Given the description of an element on the screen output the (x, y) to click on. 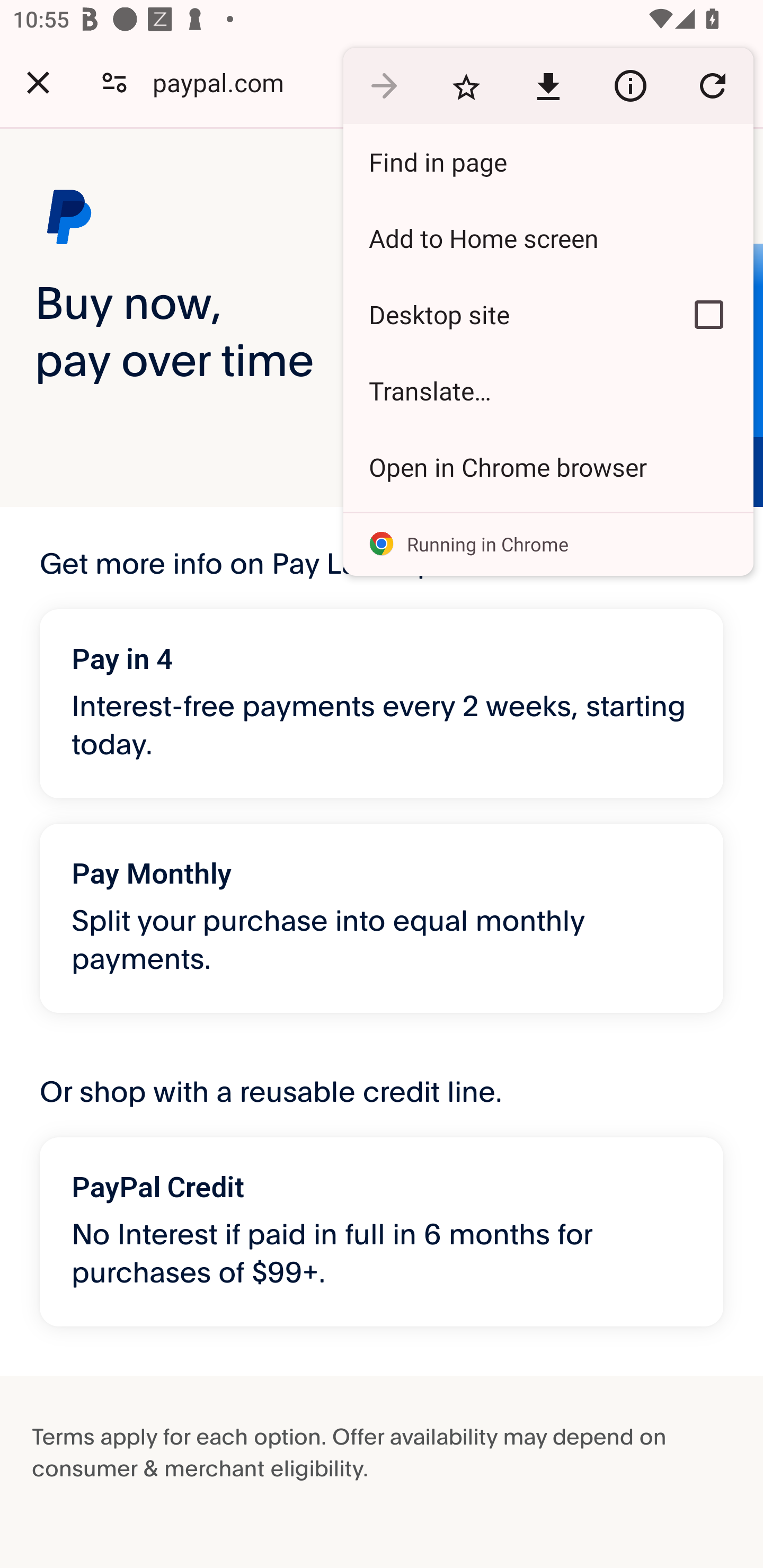
Go forward (383, 85)
Bookmark (465, 85)
Download this page (548, 85)
View site information (630, 85)
Refresh (712, 85)
Find in page (548, 161)
Add to Home screen (548, 237)
Desktop site Turn on Request desktop site (503, 313)
Translate… (548, 390)
Open in Chrome browser (548, 466)
